Given the description of an element on the screen output the (x, y) to click on. 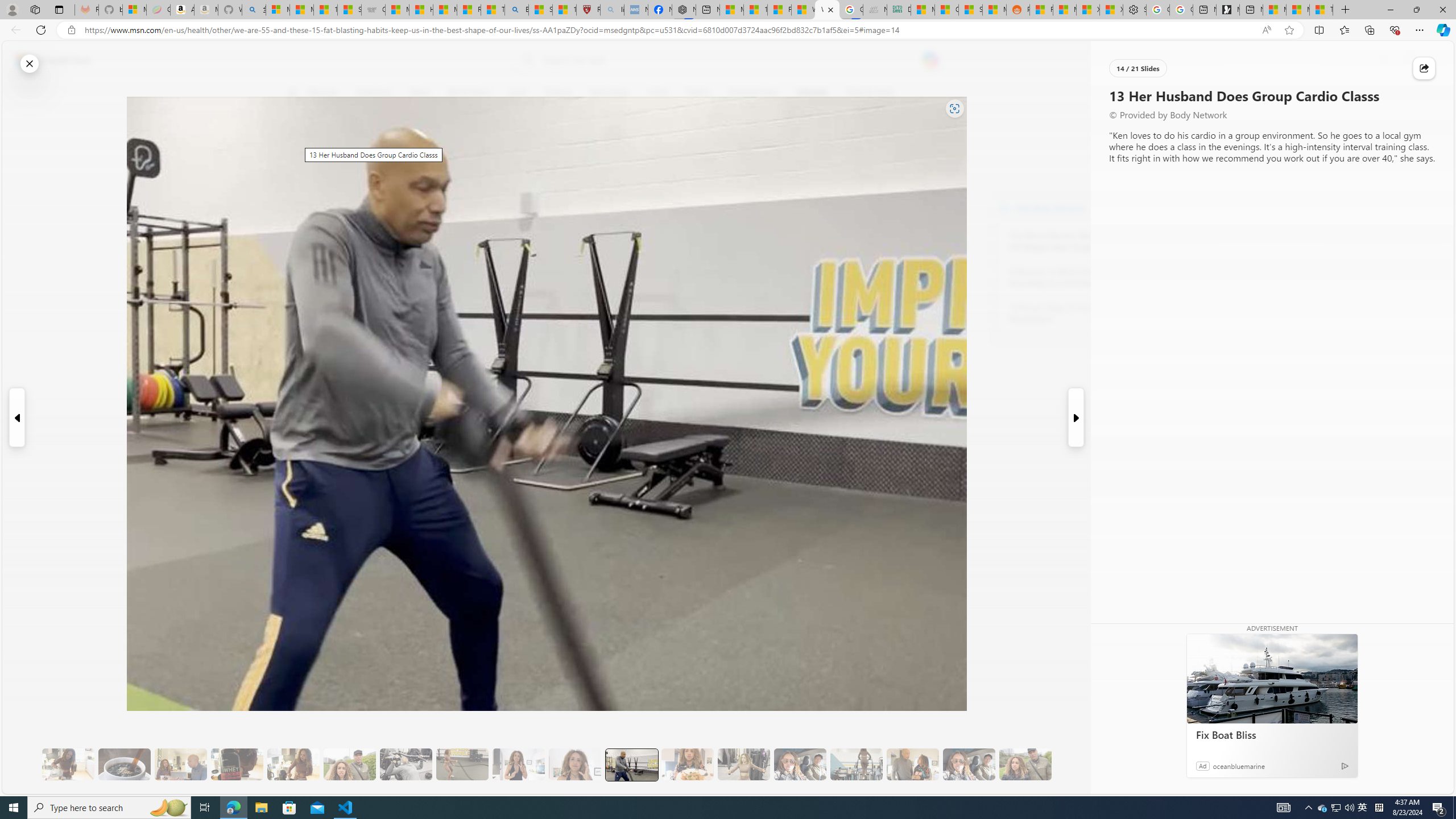
14 They Have Salmon and Veggies for Dinner (687, 764)
Bing (515, 9)
16 The Couple's Program Helps with Accountability (800, 764)
9 They Do Bench Exercises (406, 764)
12 Popular Science Lies that Must be Corrected (563, 9)
19 It Also Simplifies Thiings (968, 764)
